Given the description of an element on the screen output the (x, y) to click on. 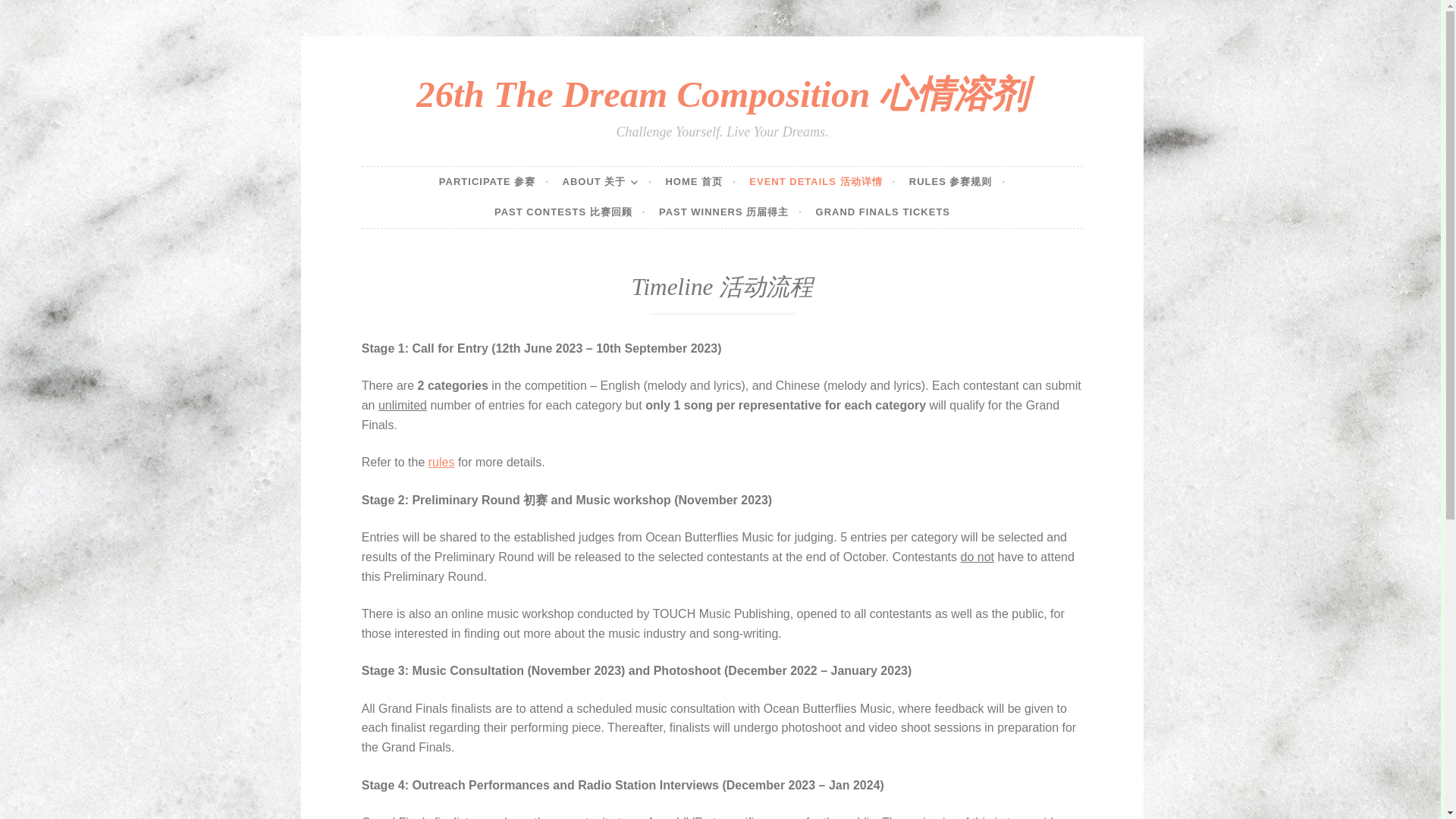
rules (441, 461)
GRAND FINALS TICKETS (882, 212)
